Given the description of an element on the screen output the (x, y) to click on. 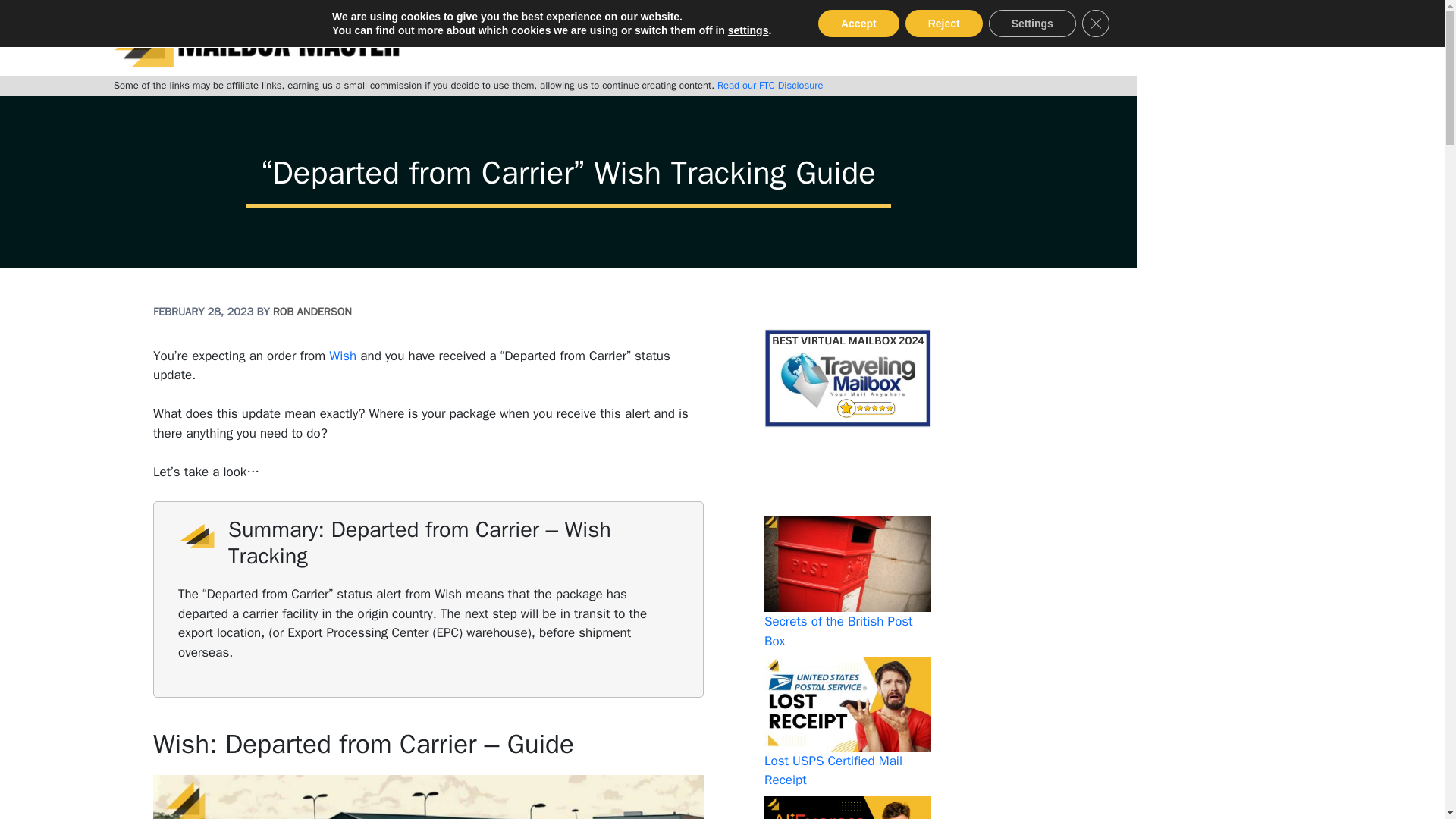
ROB ANDERSON (312, 311)
About (594, 37)
Contact (946, 37)
Track Package (679, 37)
Wish (342, 355)
Home (533, 37)
View all posts by Rob Anderson (312, 311)
Guides (878, 37)
Read our FTC Disclosure (769, 84)
MAILBOX MASTER (256, 38)
Our Services (787, 37)
